Given the description of an element on the screen output the (x, y) to click on. 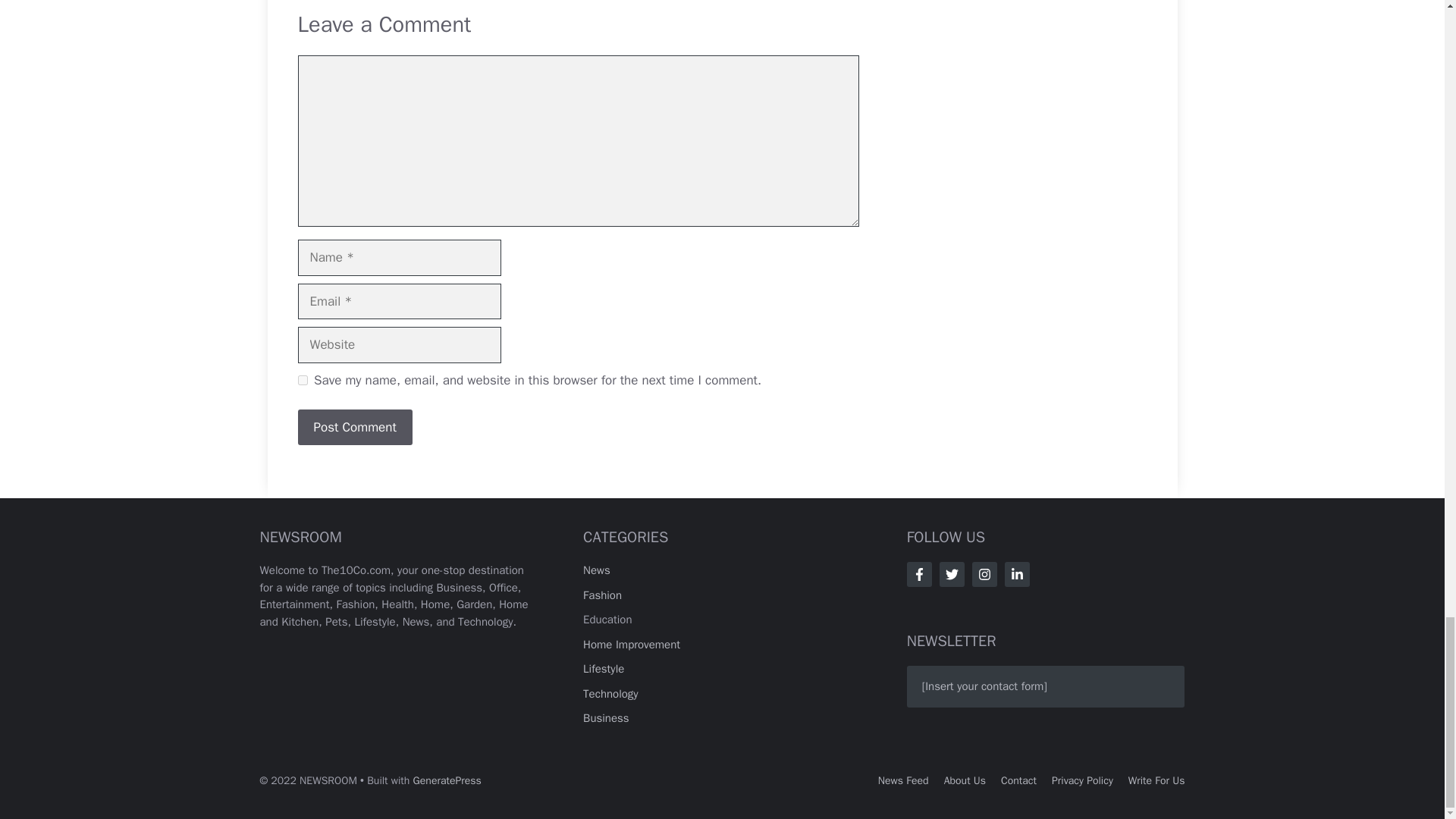
yes (302, 379)
Post Comment (354, 427)
Post Comment (354, 427)
Technology (611, 694)
News (596, 570)
Fashion (602, 594)
Lifestyle (603, 668)
Home Improvement (631, 644)
